Given the description of an element on the screen output the (x, y) to click on. 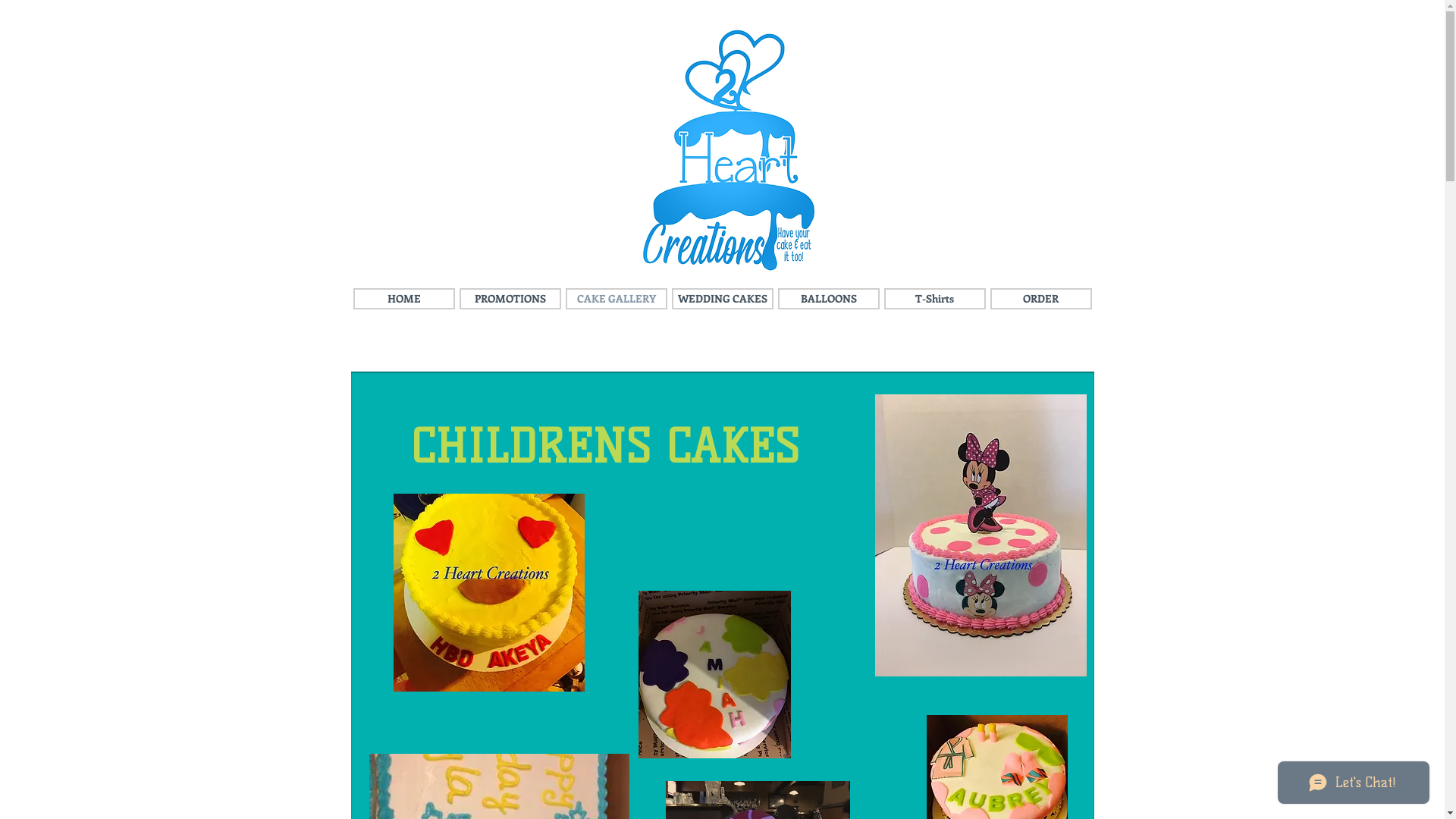
PROMOTIONS Element type: text (510, 298)
WEDDING CAKES Element type: text (722, 298)
CAKE GALLERY Element type: text (616, 298)
T-Shirts Element type: text (934, 298)
BALLOONS Element type: text (828, 298)
ORDER Element type: text (1041, 298)
HOME Element type: text (404, 298)
